Given the description of an element on the screen output the (x, y) to click on. 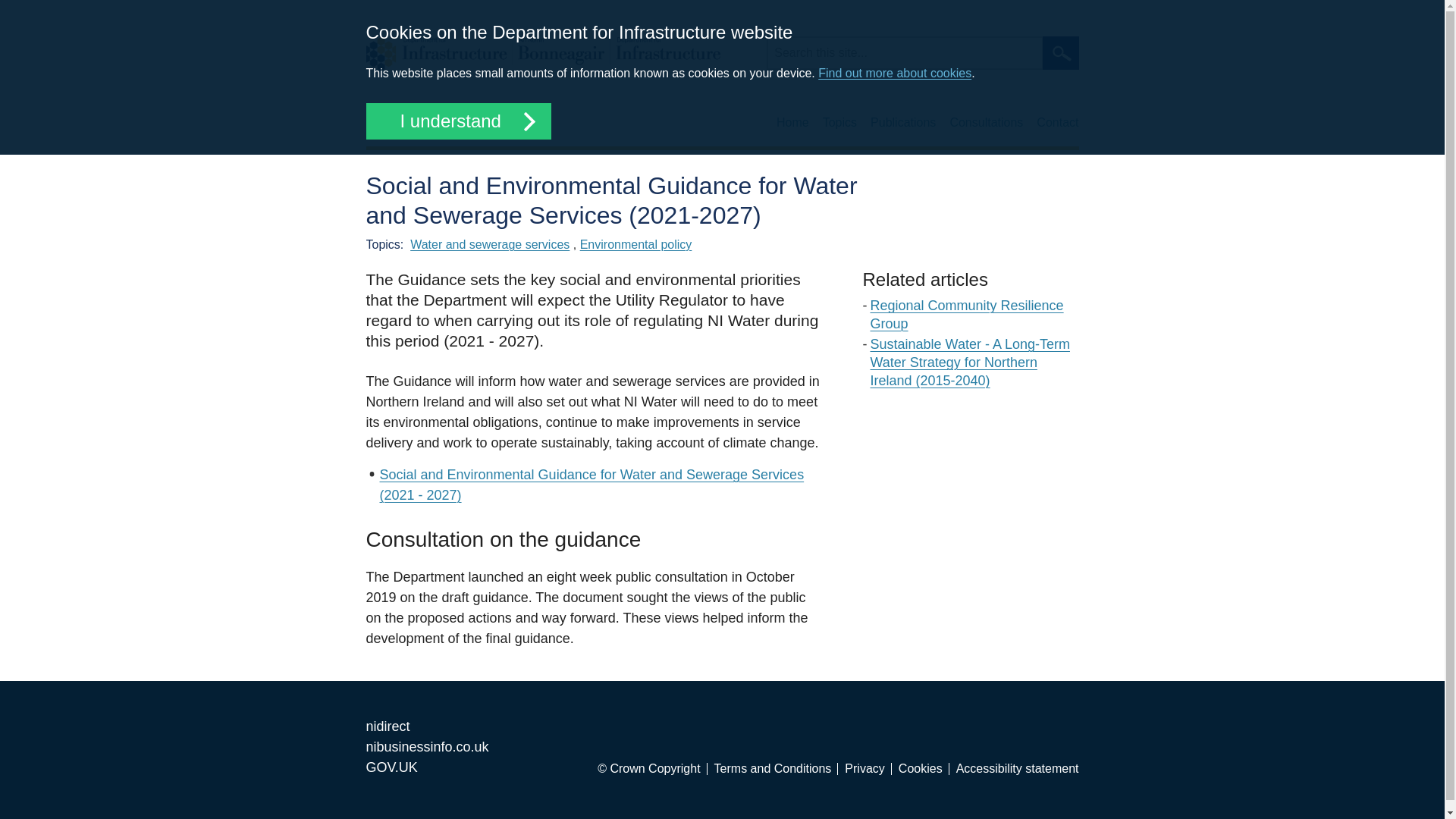
Consultations (986, 122)
nidirect (387, 726)
Cookies (923, 768)
Contact (1057, 122)
Enter the terms you wish to search for (904, 52)
Environmental policy (636, 244)
Search (1060, 52)
Regional Community Resilience Group (967, 314)
Topics (839, 122)
Search (1060, 52)
